Given the description of an element on the screen output the (x, y) to click on. 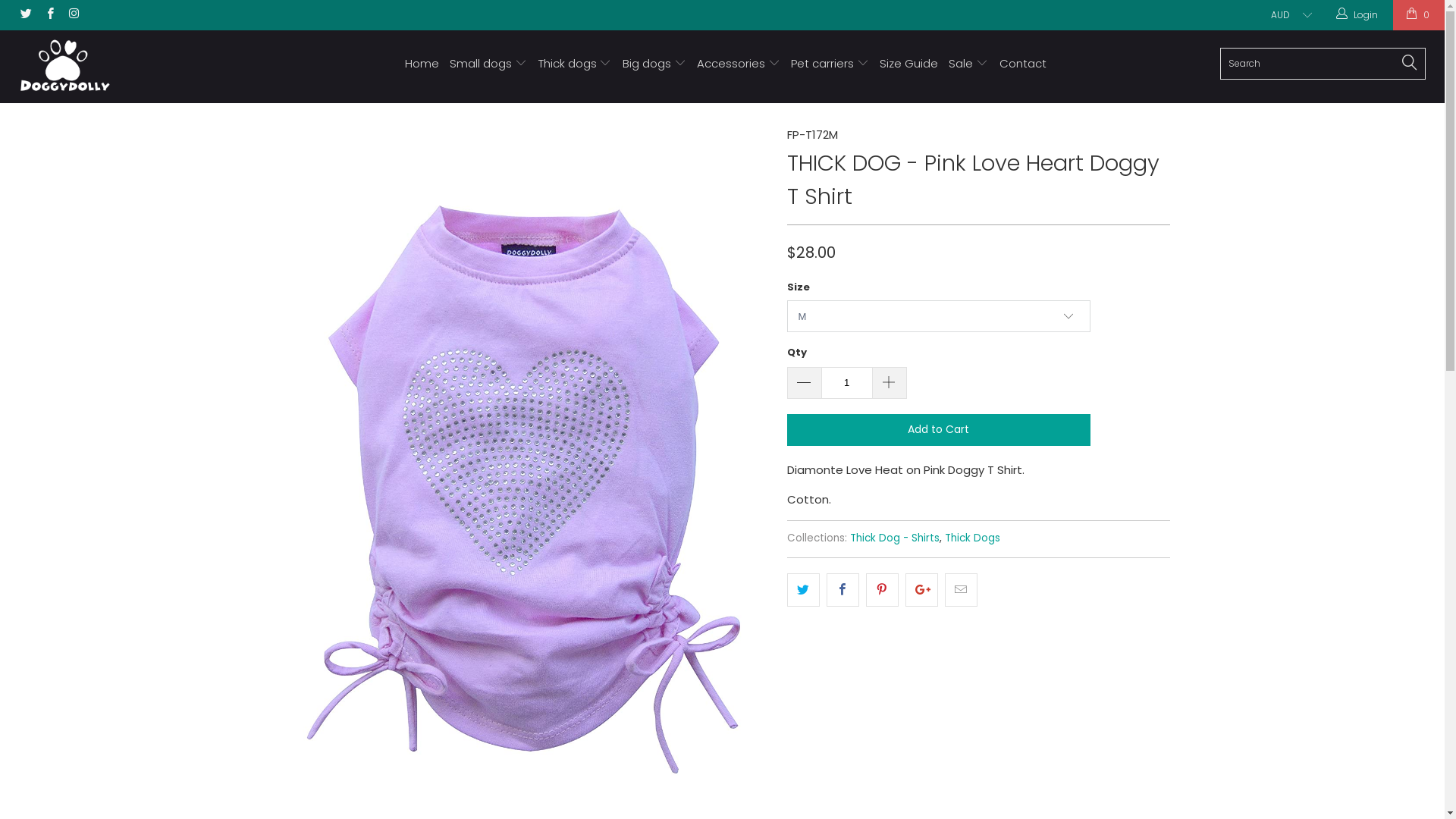
Share this on Facebook Element type: hover (842, 589)
Share this on Pinterest Element type: hover (882, 589)
Pet carriers Element type: text (829, 63)
Accessories Element type: text (738, 63)
0 Element type: text (1418, 15)
Contact Element type: text (1022, 63)
Big dogs Element type: text (654, 63)
Thick Dogs Element type: text (972, 537)
Share this on Twitter Element type: hover (803, 589)
Sale Element type: text (968, 63)
DoggyDolly Australia & New Zealand on Instagram Element type: hover (72, 14)
DoggyDolly Australia & New Zealand on Twitter Element type: hover (24, 14)
Login Element type: text (1357, 15)
Thick dogs Element type: text (574, 63)
DoggyDolly Australia & New Zealand on Facebook Element type: hover (48, 14)
Add to Cart Element type: text (938, 429)
Email this to a friend Element type: hover (960, 589)
Size Guide Element type: text (908, 63)
Thick Dog - Shirts Element type: text (893, 537)
Small dogs Element type: text (488, 63)
Home Element type: text (421, 63)
Share this on Google+ Element type: hover (921, 589)
DoggyDolly Australia & New Zealand Element type: hover (123, 66)
